Given the description of an element on the screen output the (x, y) to click on. 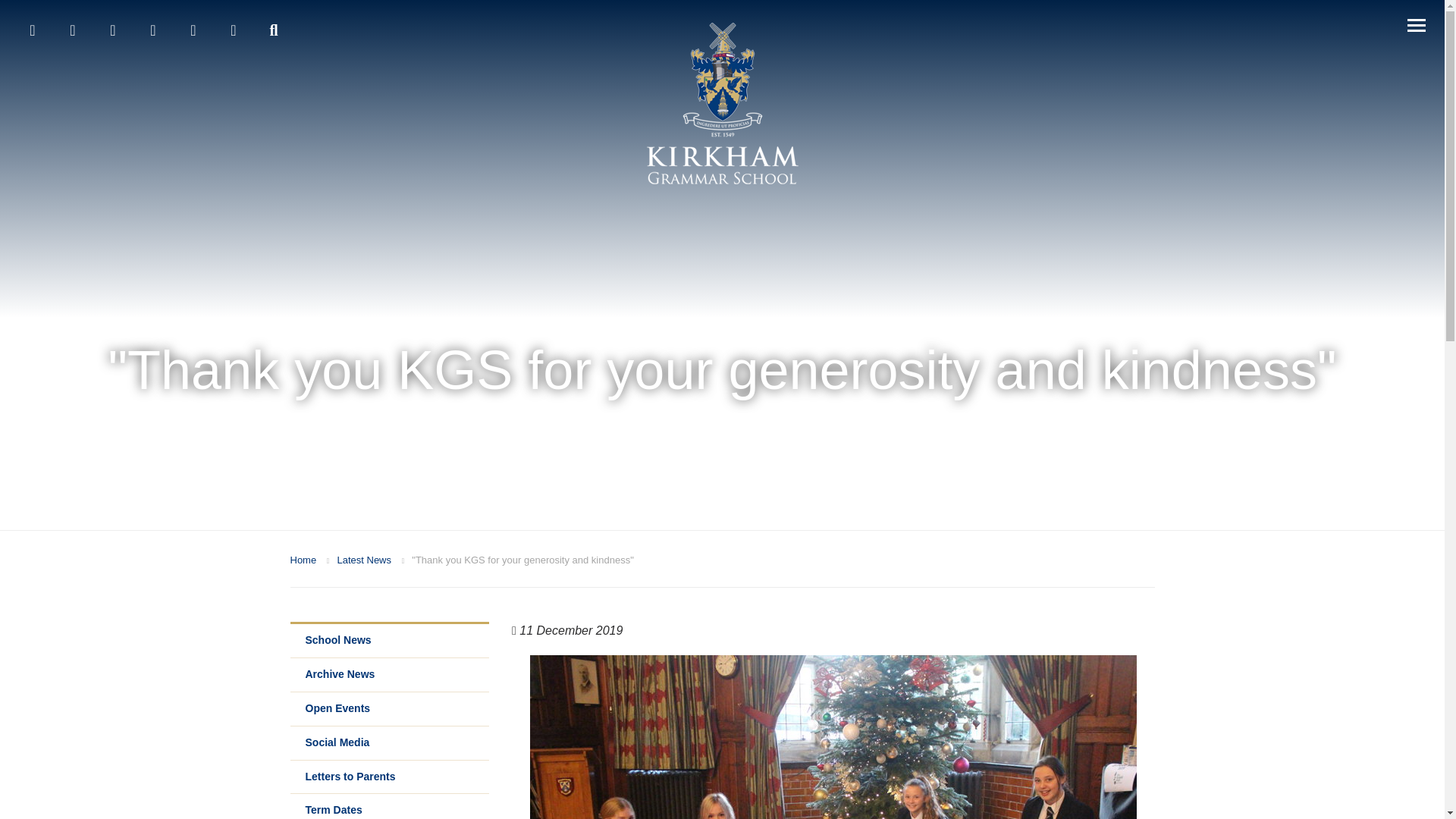
Linked In (152, 30)
Toggle Menu (1416, 26)
Instagram (193, 30)
Search (273, 30)
Youtube (113, 30)
Facebook (31, 30)
X (72, 30)
Flickr (232, 30)
